Given the description of an element on the screen output the (x, y) to click on. 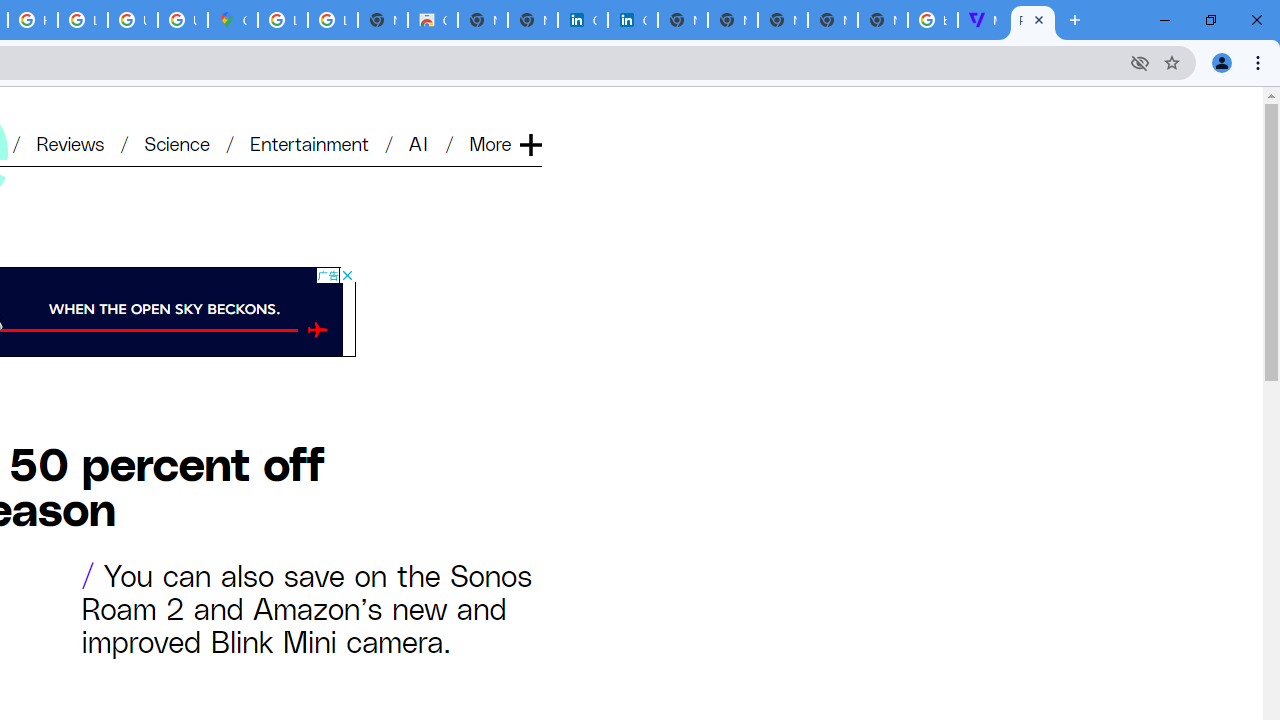
Expand (529, 112)
Menu Expand (507, 111)
Entertainment (309, 142)
Cookie Policy | LinkedIn (632, 20)
Cookie Policy | LinkedIn (582, 20)
More Expand (504, 142)
